Given the description of an element on the screen output the (x, y) to click on. 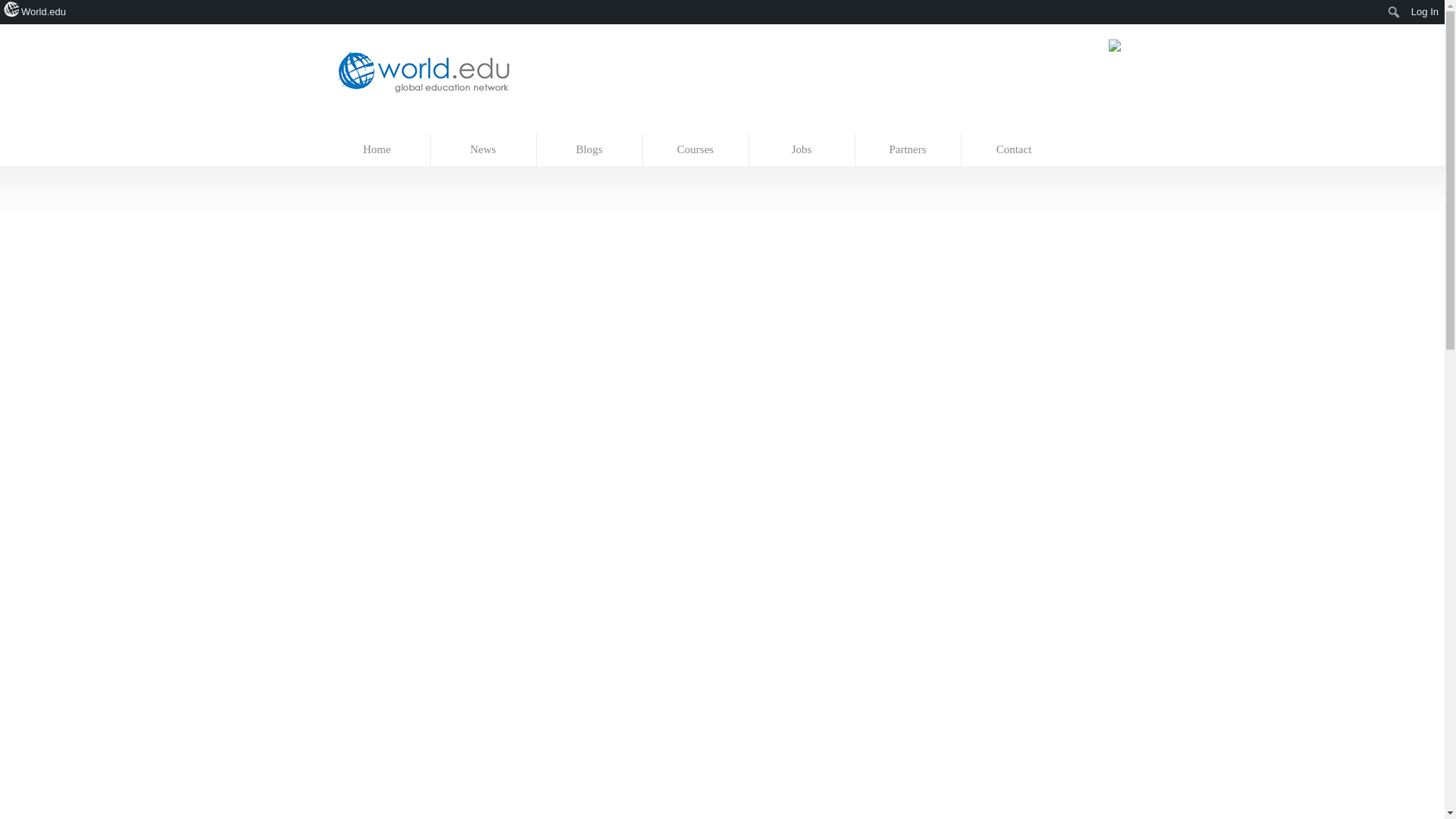
Blogs (590, 149)
Contact (1013, 149)
News (483, 149)
Partners (908, 149)
Home (377, 149)
Skip to content (357, 125)
Courses (696, 149)
Skip to content (357, 125)
Jobs (802, 149)
